Given the description of an element on the screen output the (x, y) to click on. 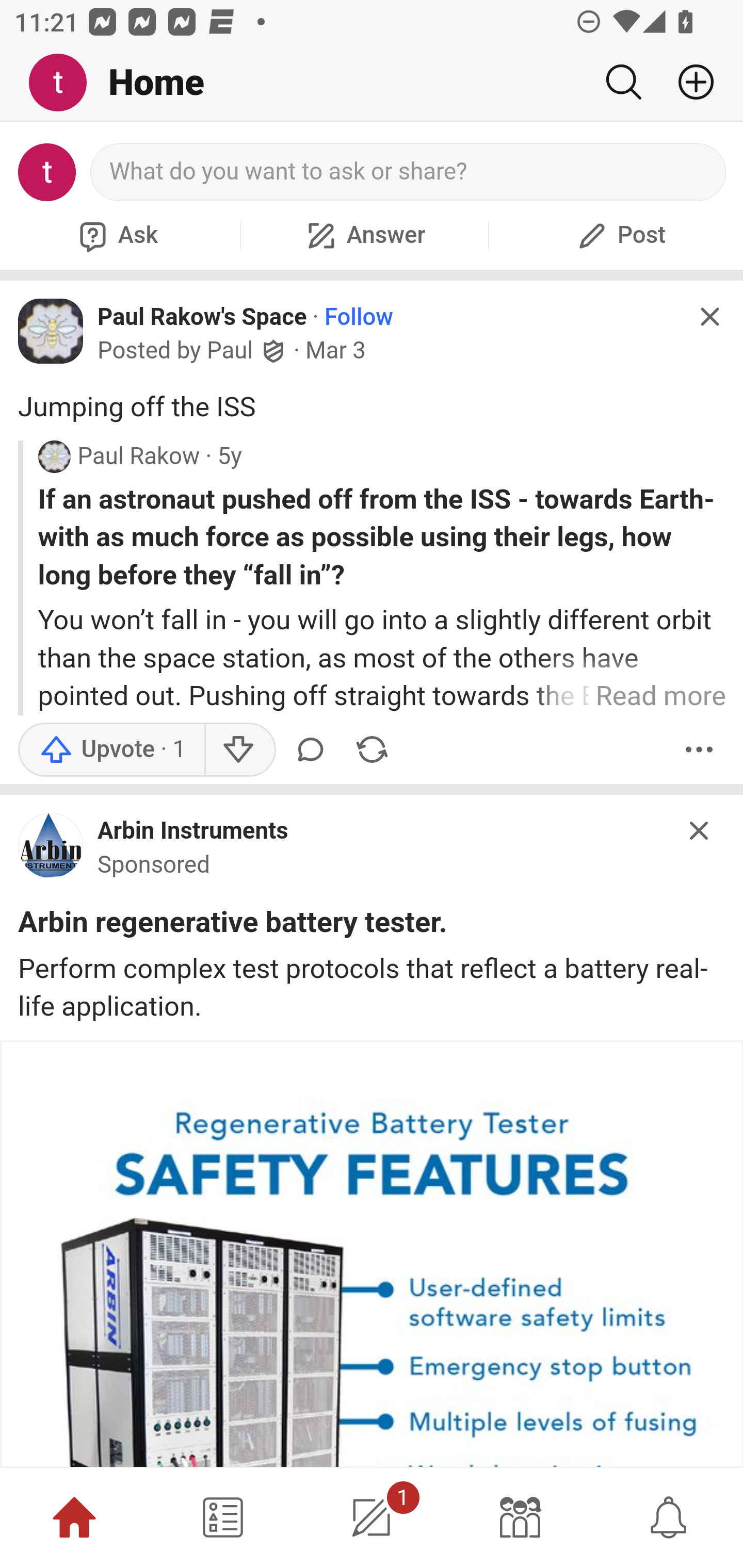
Me (64, 83)
Search (623, 82)
Add (688, 82)
What do you want to ask or share? (408, 172)
Ask (116, 234)
Answer (364, 234)
Post (618, 234)
Hide (709, 316)
Icon for Paul Rakow's Space (50, 330)
Paul Rakow's Space (201, 315)
Follow (359, 316)
Profile photo for Paul Rakow (54, 456)
Upvote (111, 748)
Downvote (238, 748)
Comment (313, 748)
Share (372, 748)
More (699, 748)
Hide (699, 830)
main-qimg-e3204e8ac522f2bc4d03db14dfcf0739 (50, 849)
Arbin Instruments (193, 831)
Arbin regenerative battery tester. (232, 925)
1 (371, 1517)
